Given the description of an element on the screen output the (x, y) to click on. 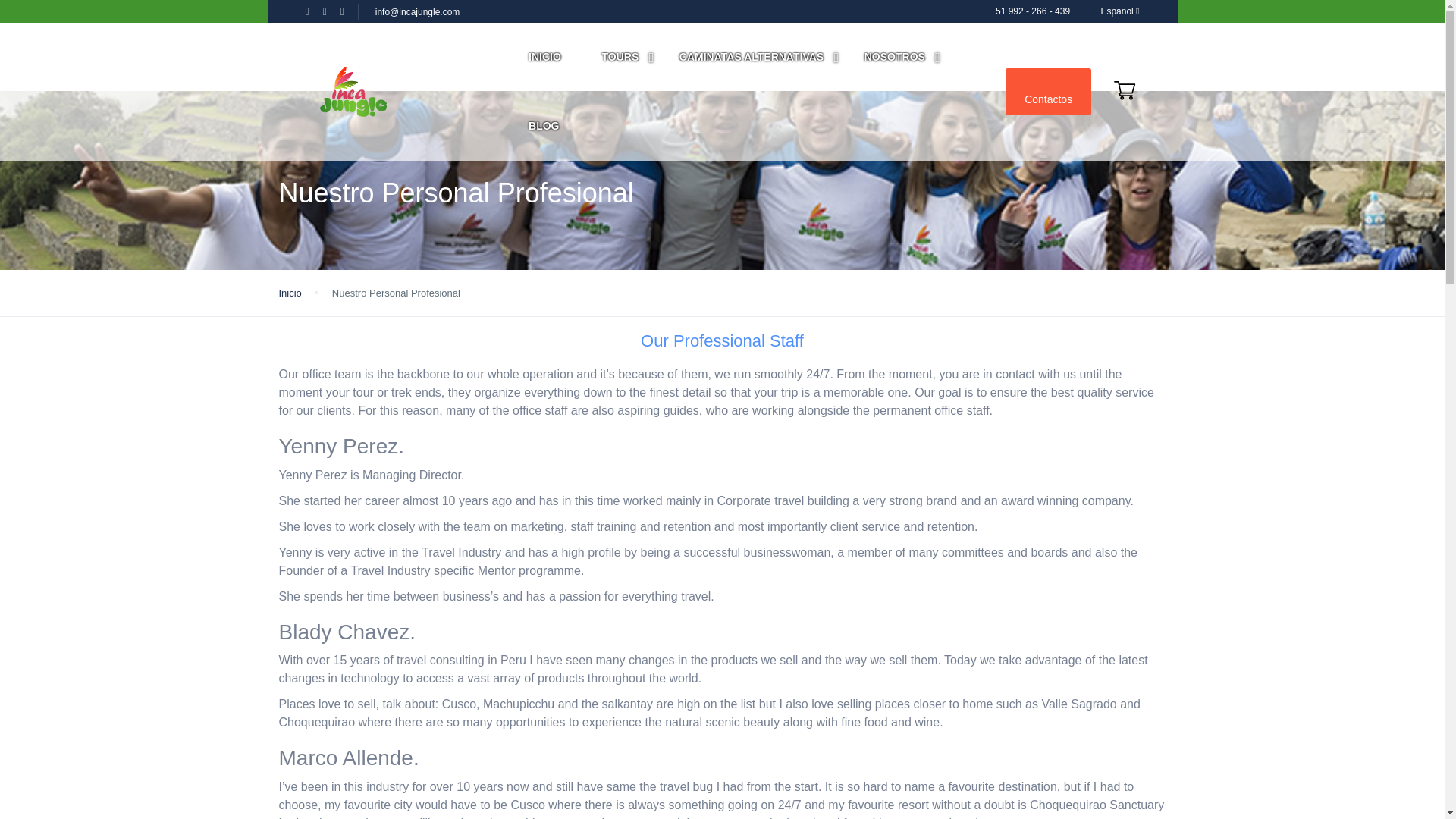
CAMINATAS ALTERNATIVAS (752, 56)
INICIO (544, 56)
TOURS (620, 56)
